Given the description of an element on the screen output the (x, y) to click on. 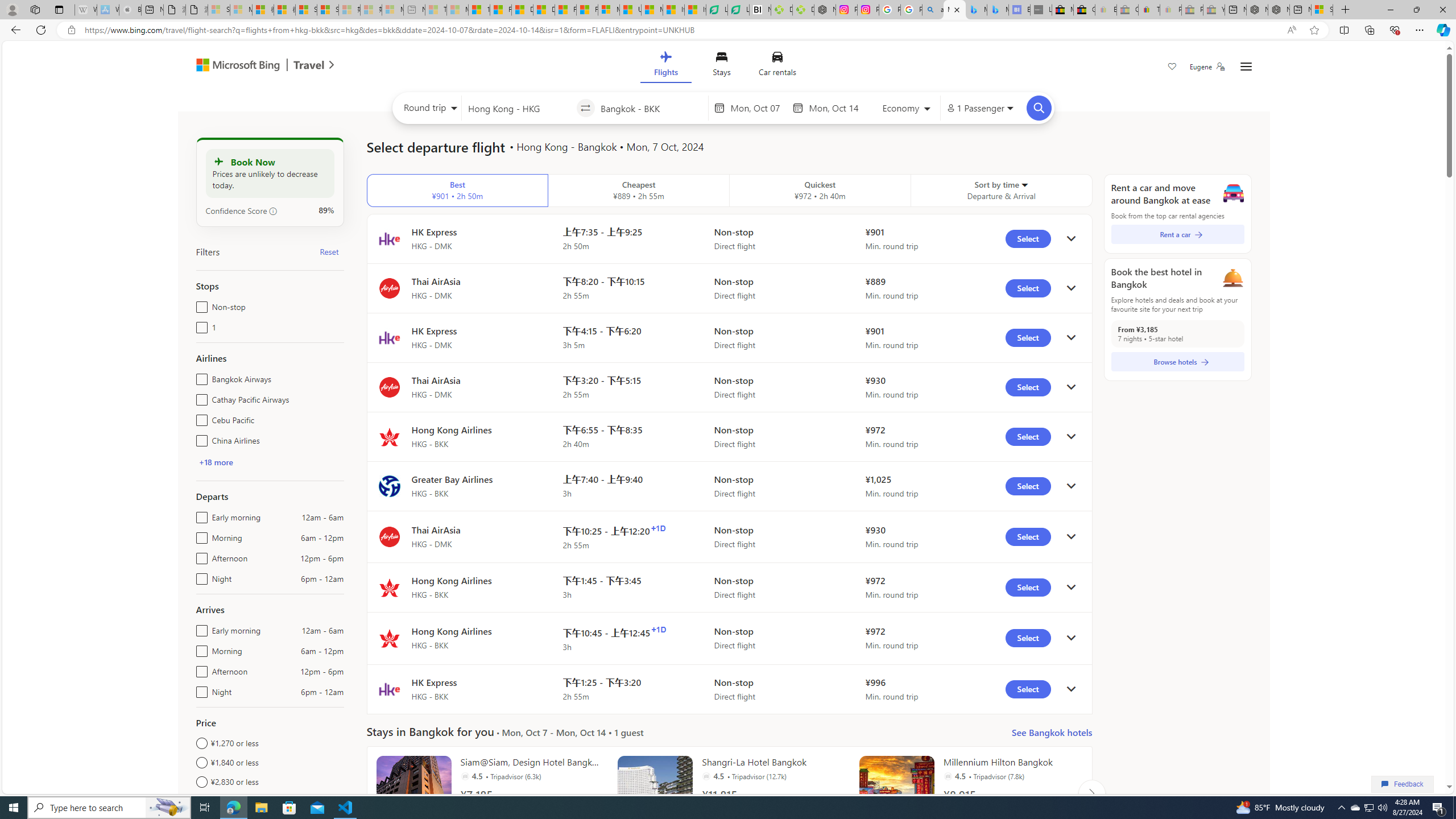
End date (836, 107)
Class: autosuggest-container full-height no-y-padding (651, 107)
alabama high school quarterback dies - Search (933, 9)
Select class of service (906, 109)
Microsoft Bing (232, 65)
